Given the description of an element on the screen output the (x, y) to click on. 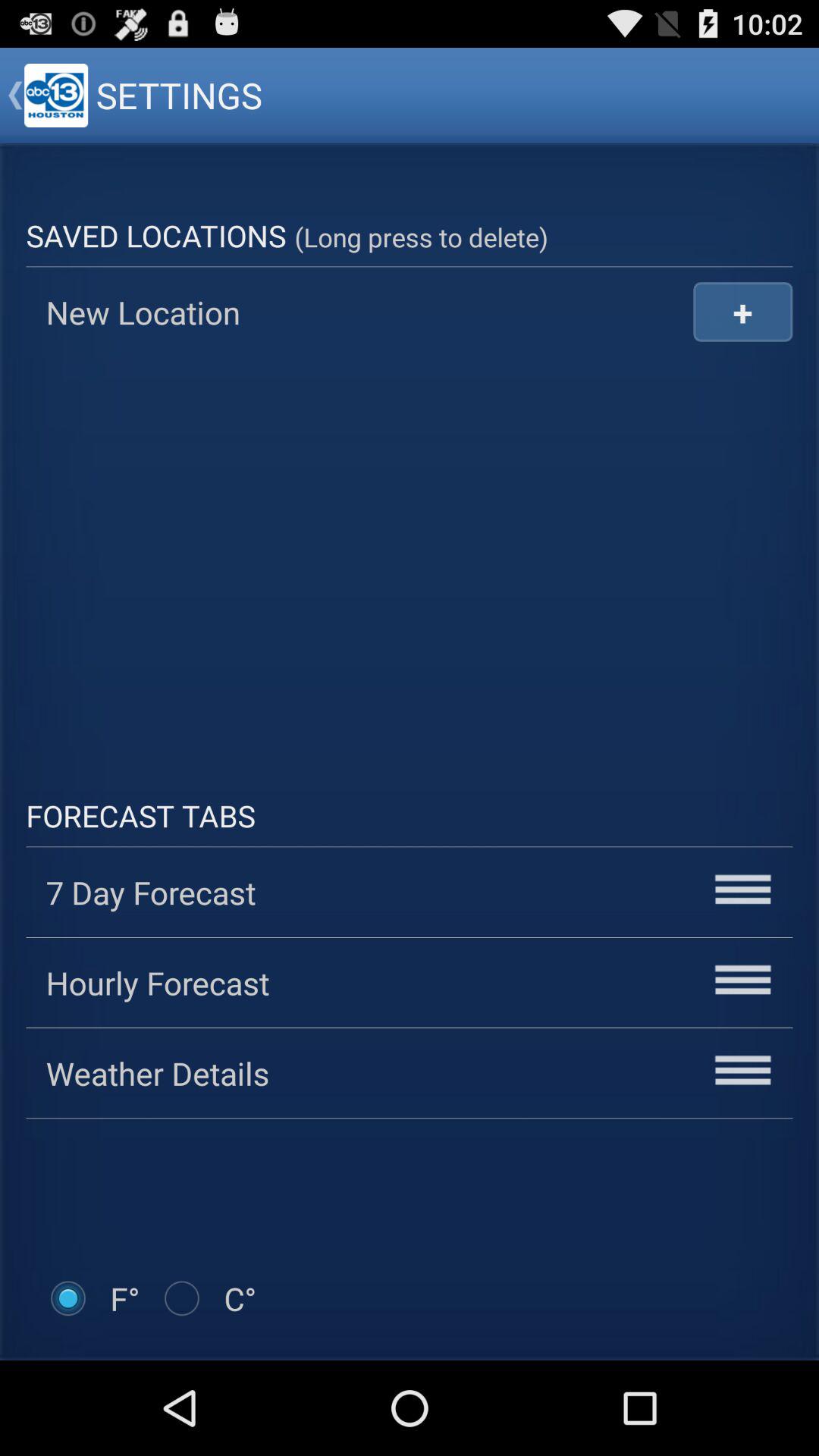
launch item below the weather details icon (93, 1298)
